Given the description of an element on the screen output the (x, y) to click on. 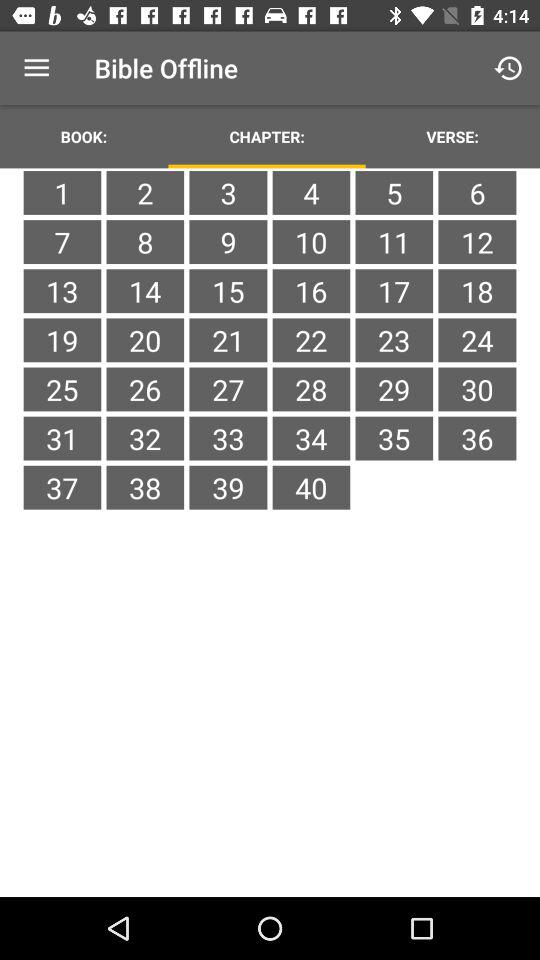
choose 3 (228, 192)
